Given the description of an element on the screen output the (x, y) to click on. 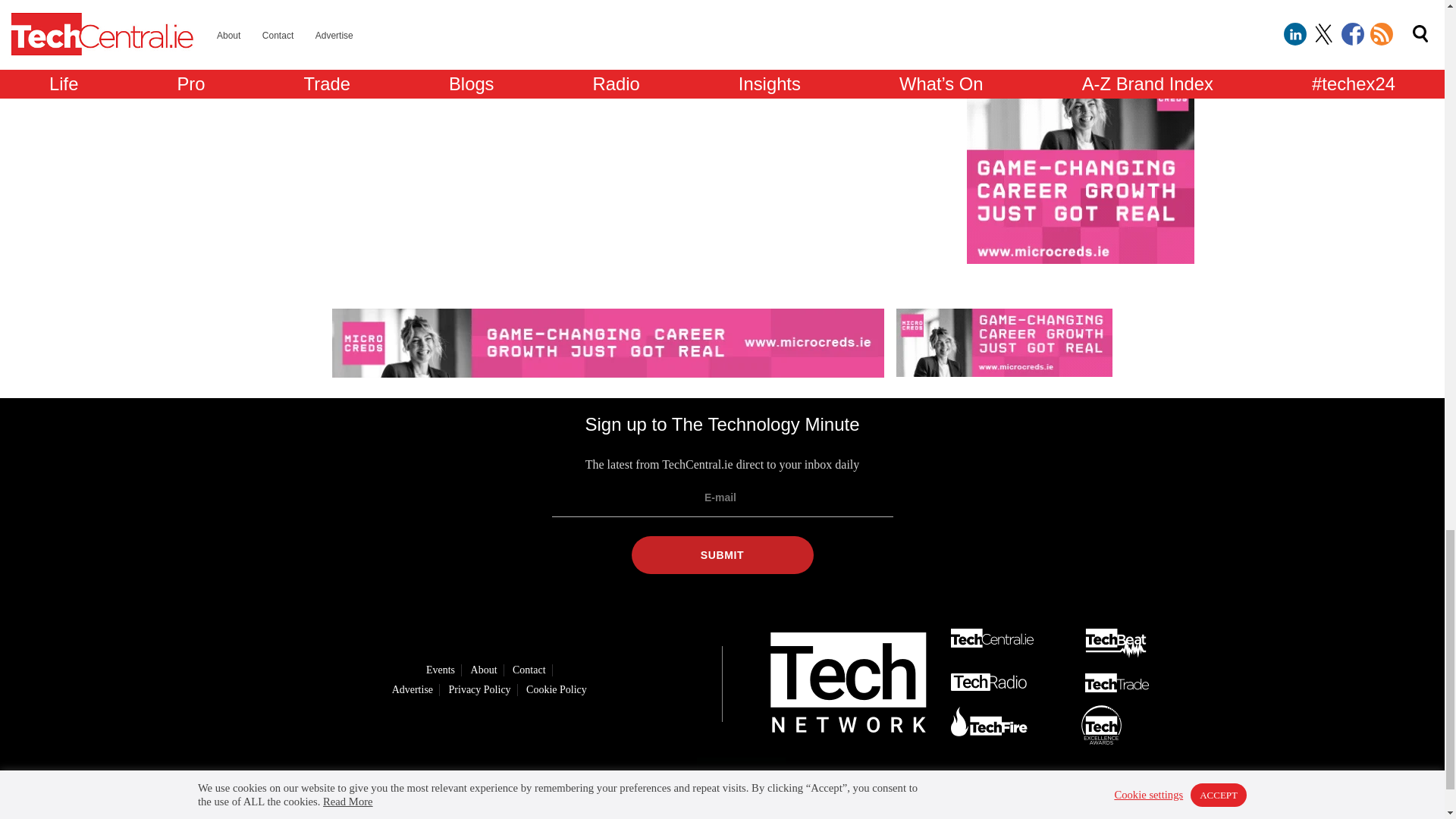
Submit (721, 555)
